Given the description of an element on the screen output the (x, y) to click on. 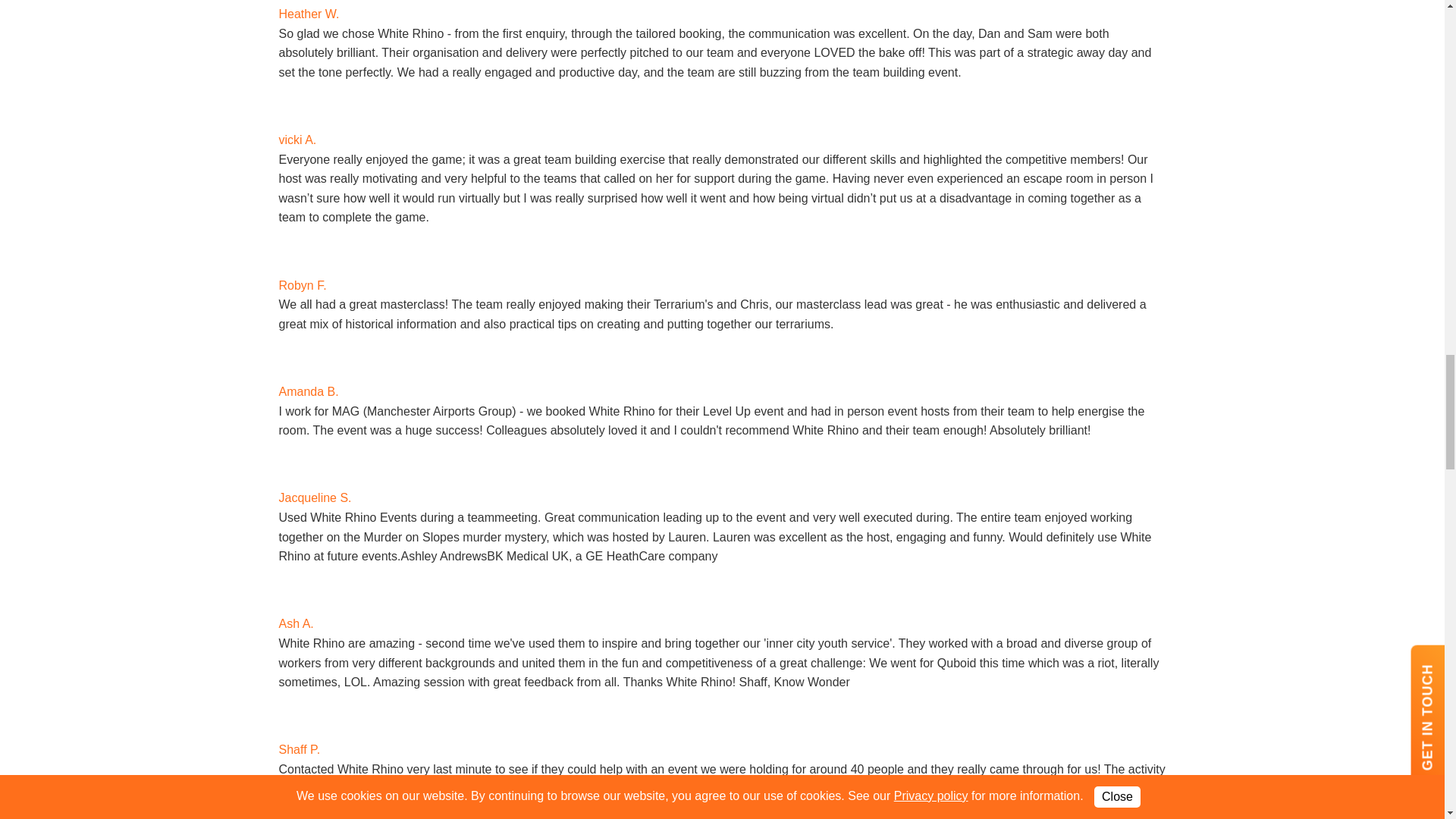
Jacqueline S. (315, 497)
vicki A. (298, 139)
Amanda B. (309, 391)
Robyn F. (302, 285)
Ash A. (300, 587)
Jacqueline S. (300, 461)
Amanda B. (300, 354)
vicki A. (300, 102)
Heather W. (309, 13)
Robyn F. (300, 248)
